Given the description of an element on the screen output the (x, y) to click on. 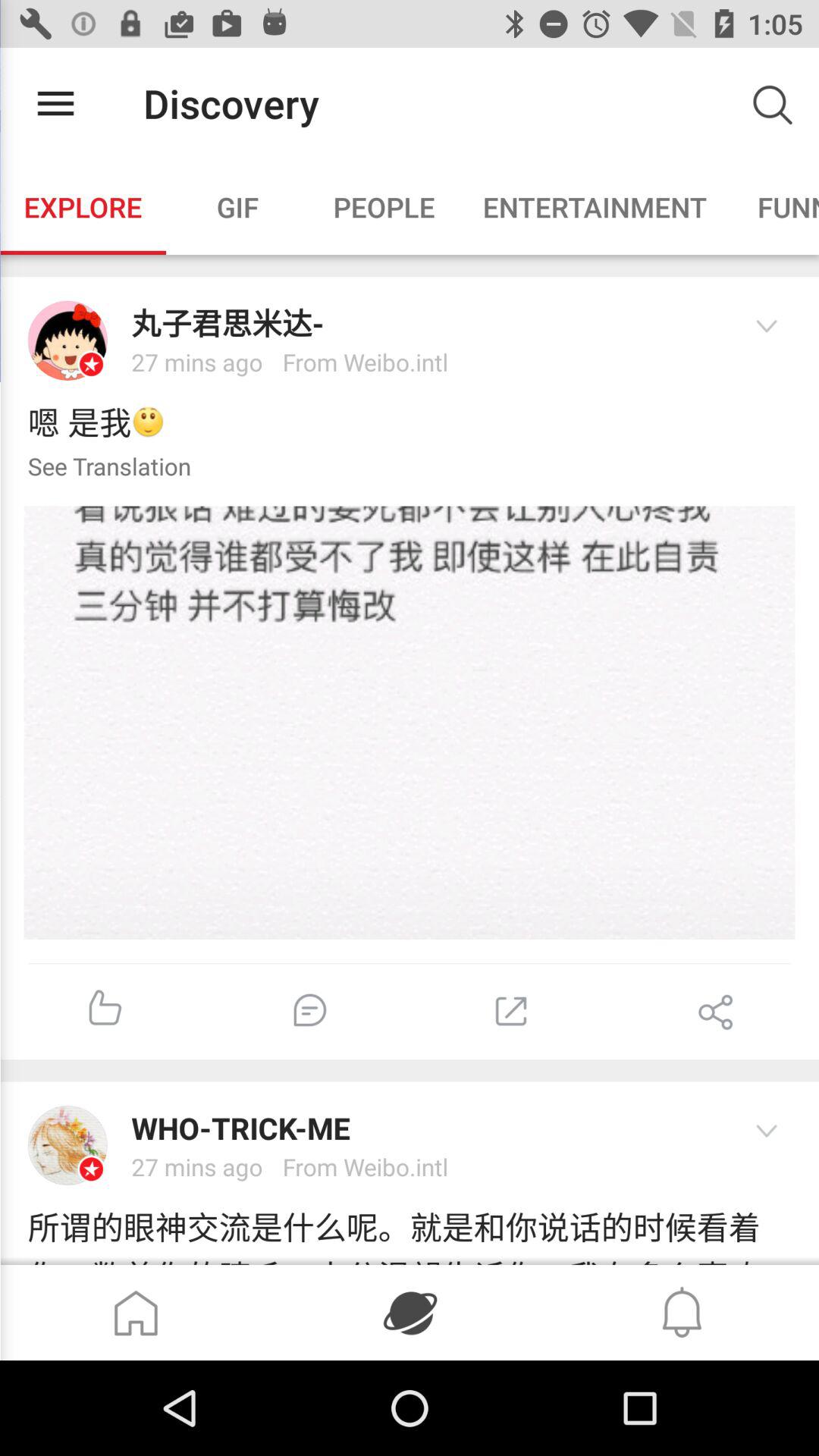
swipe until who-trick-me (424, 1127)
